Given the description of an element on the screen output the (x, y) to click on. 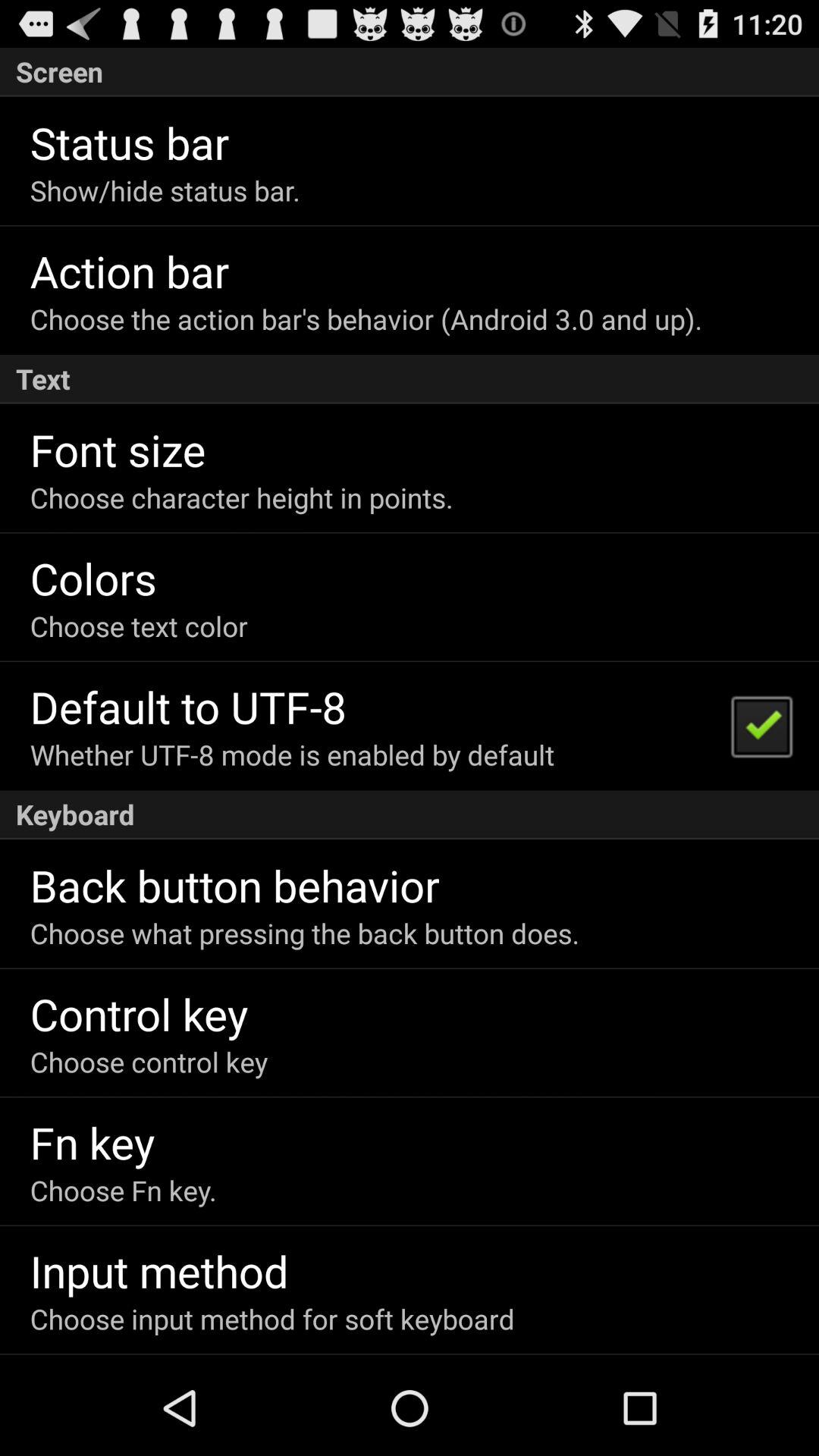
choose the screen app (409, 71)
